Given the description of an element on the screen output the (x, y) to click on. 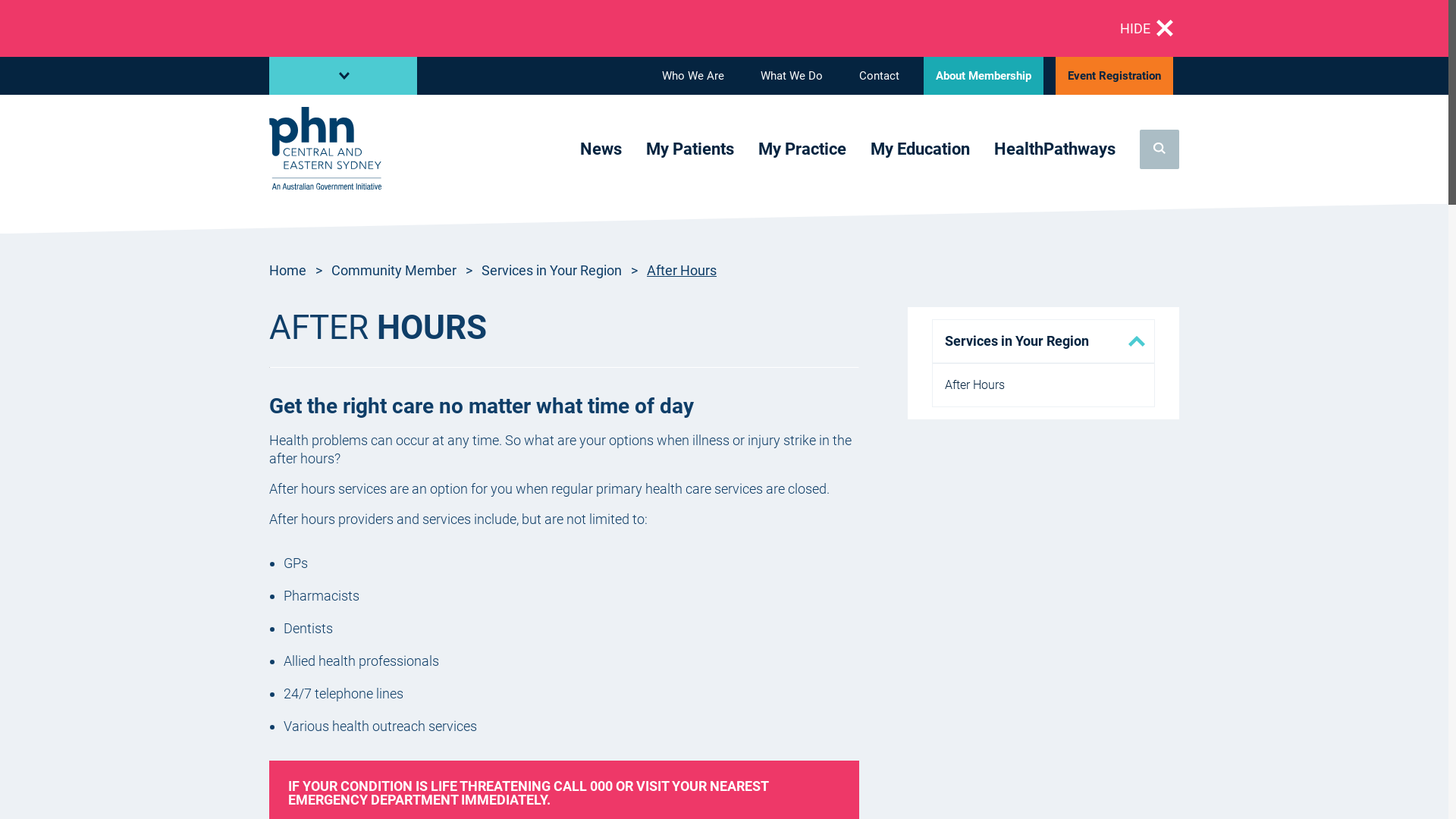
HealthPathways Element type: text (1054, 150)
About Membership Element type: text (983, 75)
My Practice Element type: text (802, 150)
My Patients Element type: text (690, 150)
Who We Are Element type: text (692, 75)
After Hours Element type: text (1042, 385)
What We Do Element type: text (791, 75)
Logo Element type: hover (325, 147)
Contact Element type: text (879, 75)
Community Member Element type: text (393, 270)
News Element type: text (600, 150)
My Education Element type: text (919, 150)
HIDE Element type: text (1146, 28)
Event Registration Element type: text (1114, 75)
Home Element type: text (287, 270)
Services in Your Region Element type: text (551, 270)
